Given the description of an element on the screen output the (x, y) to click on. 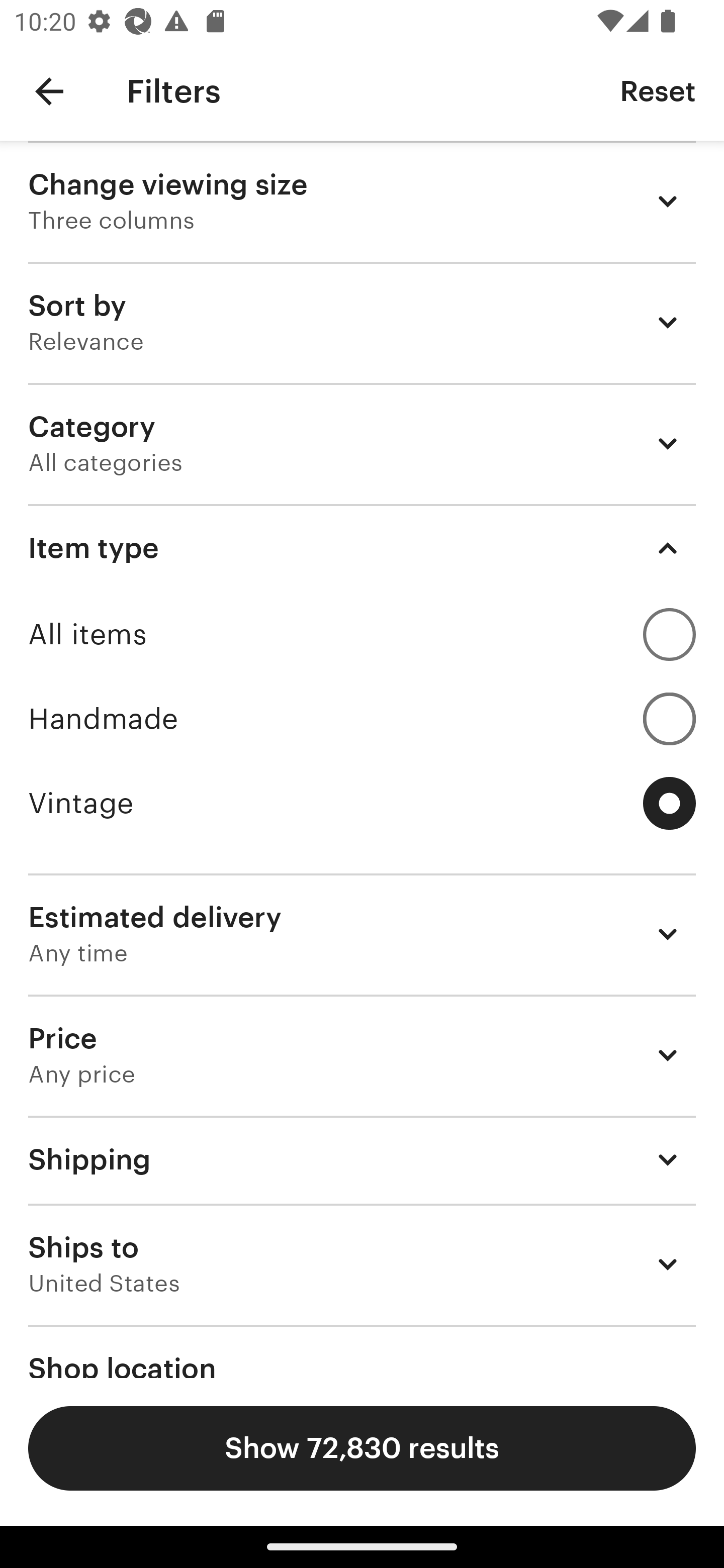
Navigate up (49, 91)
Reset (657, 90)
Change viewing size Three columns (362, 201)
Sort by Relevance (362, 321)
Category All categories (362, 442)
Item type (362, 547)
All items (362, 633)
Handmade (362, 717)
Vintage (362, 802)
Estimated delivery Any time (362, 933)
Price Any price (362, 1055)
Shipping (362, 1160)
Ships to United States (362, 1264)
Shop location (362, 1351)
Show 72,830 results Show 318,512 results (361, 1448)
